Given the description of an element on the screen output the (x, y) to click on. 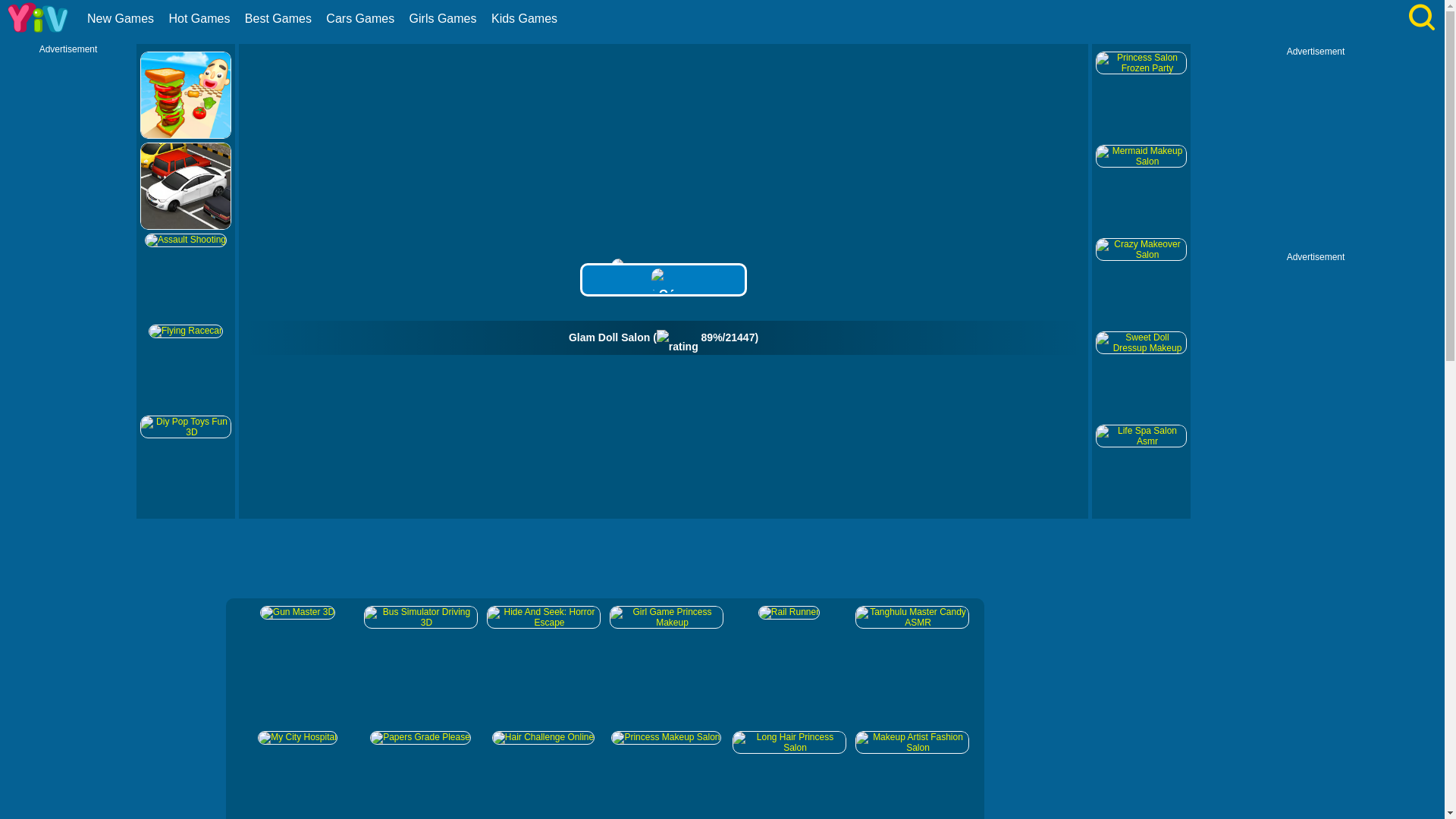
Hot Games (200, 18)
New Games (121, 18)
Cars Games (361, 18)
Girls Games (445, 18)
Kids Games (525, 18)
Best Games (279, 18)
